Given the description of an element on the screen output the (x, y) to click on. 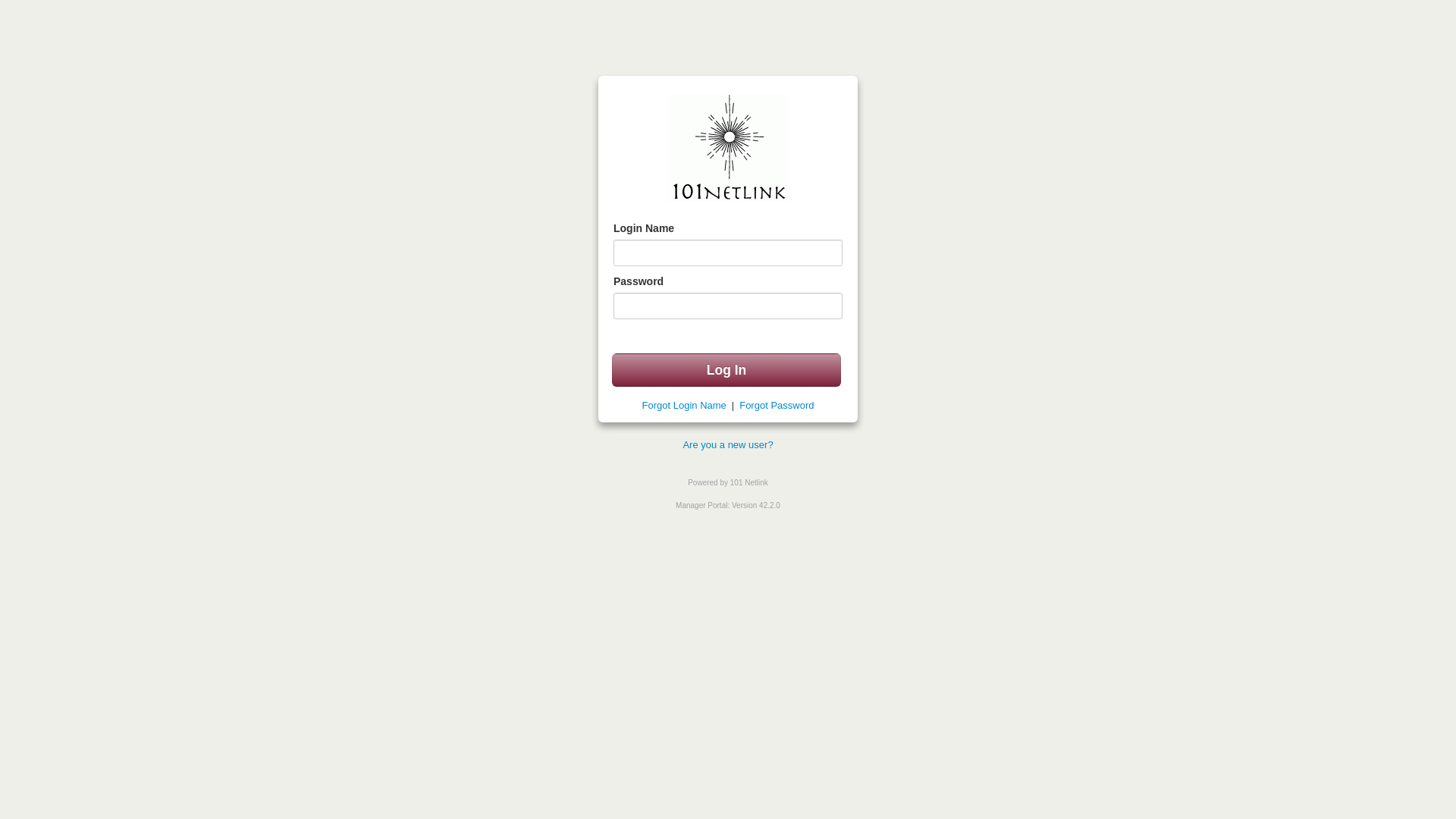
Forgot Password Element type: text (773, 405)
Forgot Login Name Element type: text (686, 405)
Log In Element type: text (725, 369)
Are you a new user? Element type: text (727, 444)
